Given the description of an element on the screen output the (x, y) to click on. 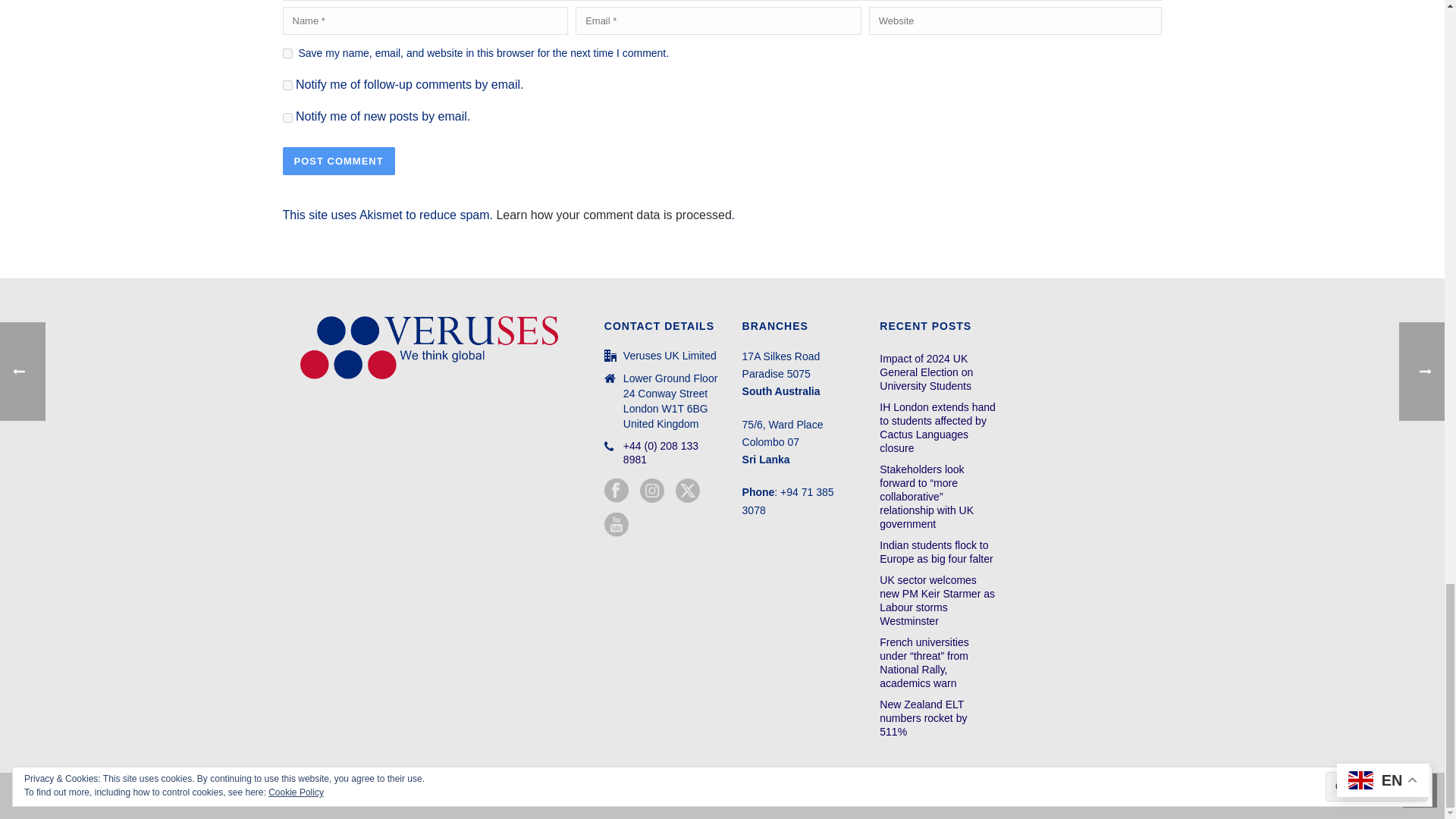
Follow Us on facebook (616, 491)
subscribe (287, 85)
subscribe (287, 117)
POST COMMENT (338, 161)
yes (287, 53)
